Given the description of an element on the screen output the (x, y) to click on. 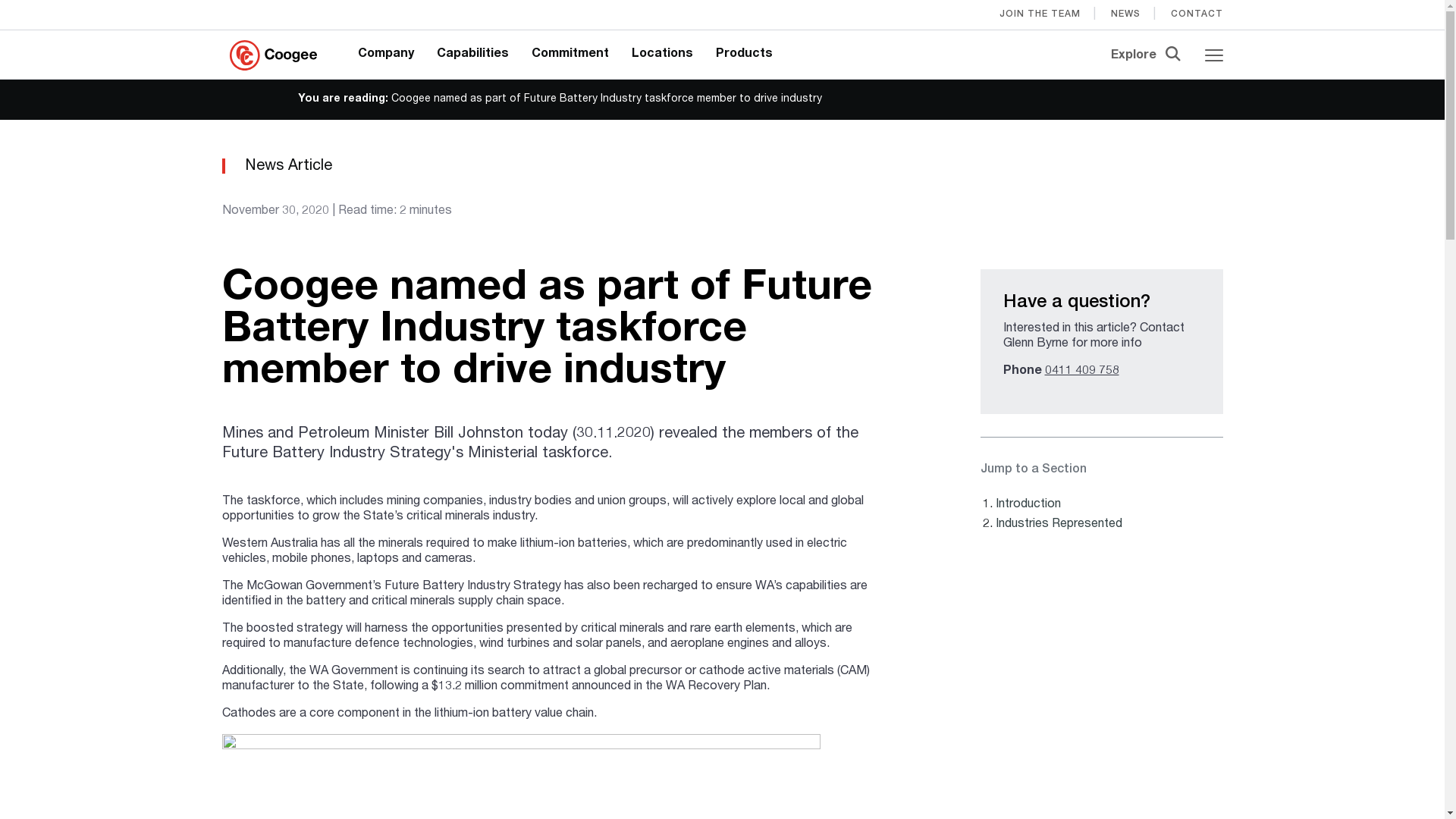
Company Element type: text (385, 54)
Introduction Element type: text (1027, 504)
Capabilities Element type: text (472, 54)
NEWS Element type: text (1124, 14)
JOIN THE TEAM Element type: text (1039, 14)
0411 409 758 Element type: text (1081, 371)
Locations Element type: text (662, 54)
CONTACT Element type: text (1196, 14)
Commitment Element type: text (569, 54)
Explore Element type: text (1146, 54)
Products Element type: text (743, 54)
Industries Represented Element type: text (1057, 524)
